Given the description of an element on the screen output the (x, y) to click on. 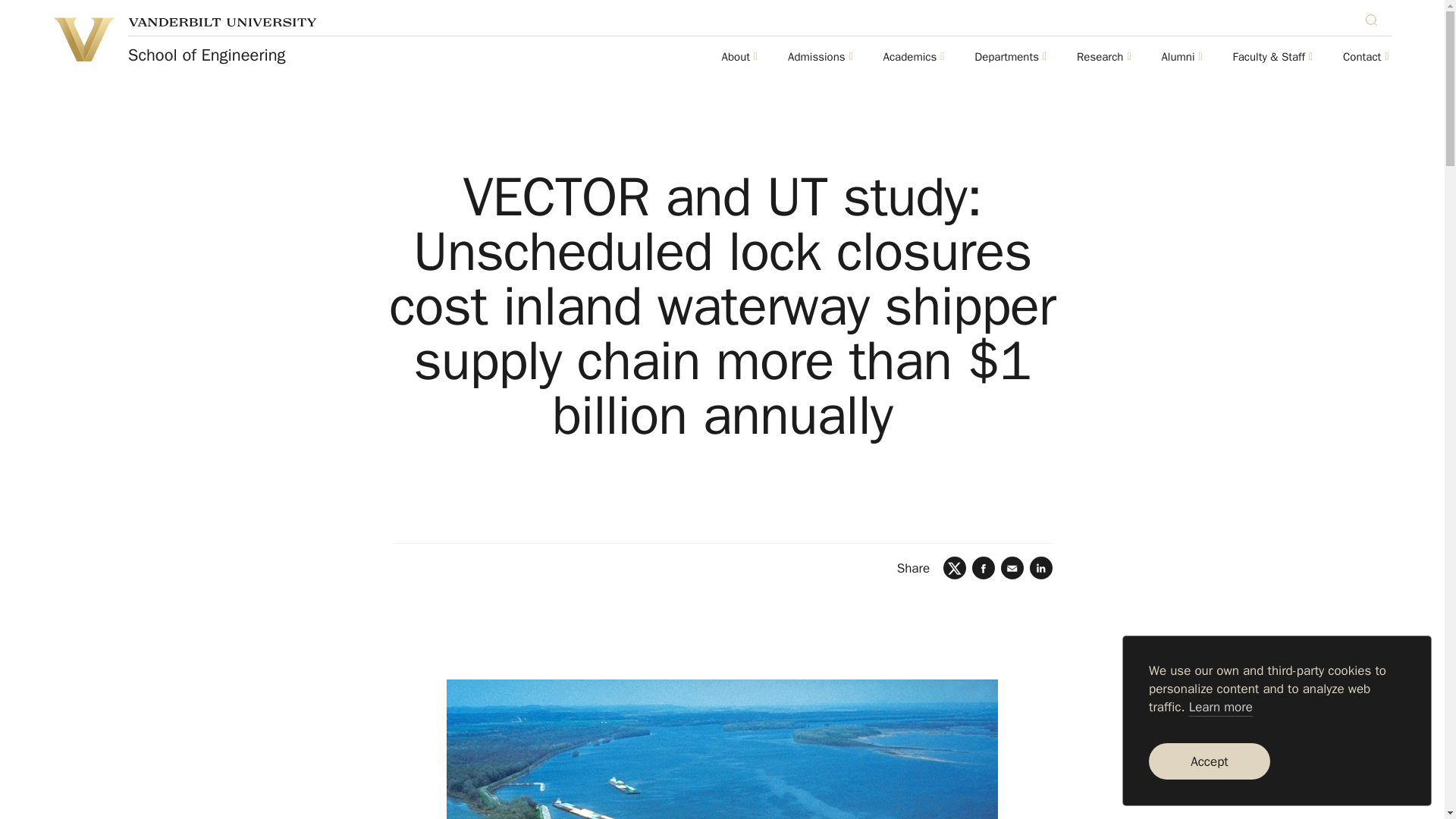
Academics (910, 57)
Alumni (1176, 57)
Learn more (1220, 707)
School of Engineering (206, 55)
About (735, 57)
Vanderbilt University (83, 39)
Accept (1208, 760)
Admissions (816, 57)
Research (1099, 57)
Vanderbilt University (222, 21)
Departments (1006, 57)
